Given the description of an element on the screen output the (x, y) to click on. 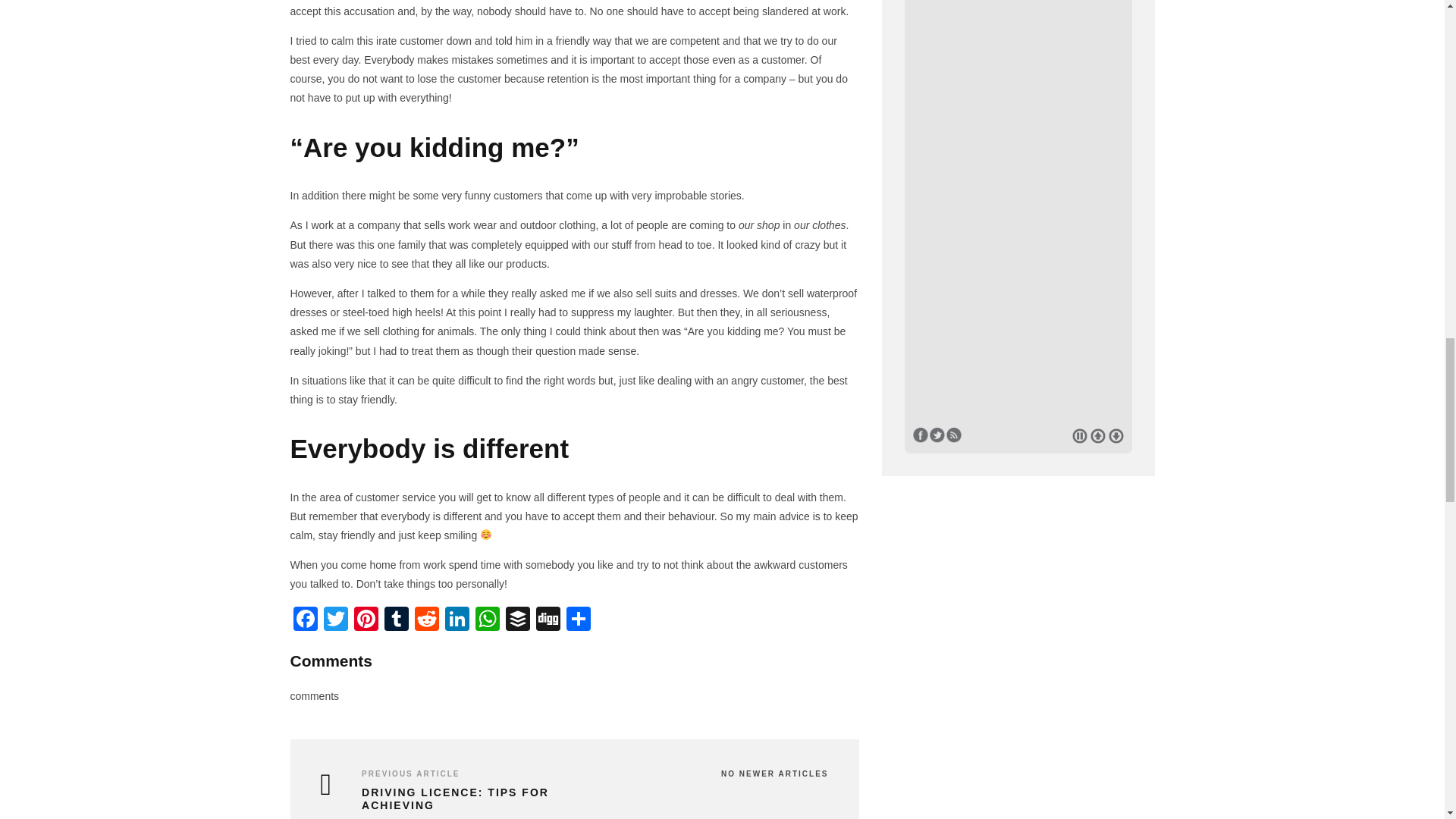
Twitter (335, 620)
Facebook (304, 620)
Pinterest (365, 620)
Tumblr (395, 620)
